Given the description of an element on the screen output the (x, y) to click on. 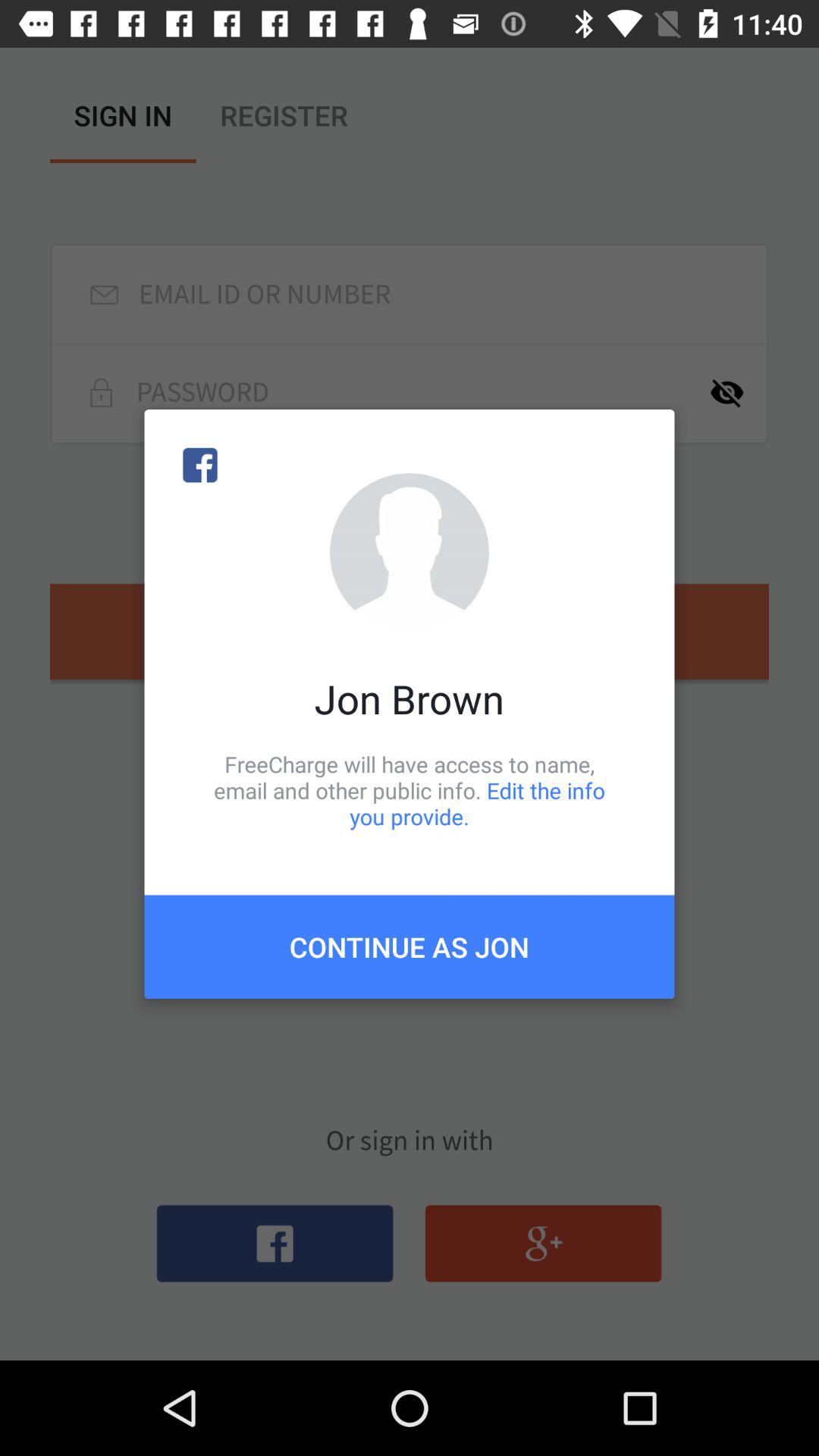
swipe to continue as jon (409, 946)
